Given the description of an element on the screen output the (x, y) to click on. 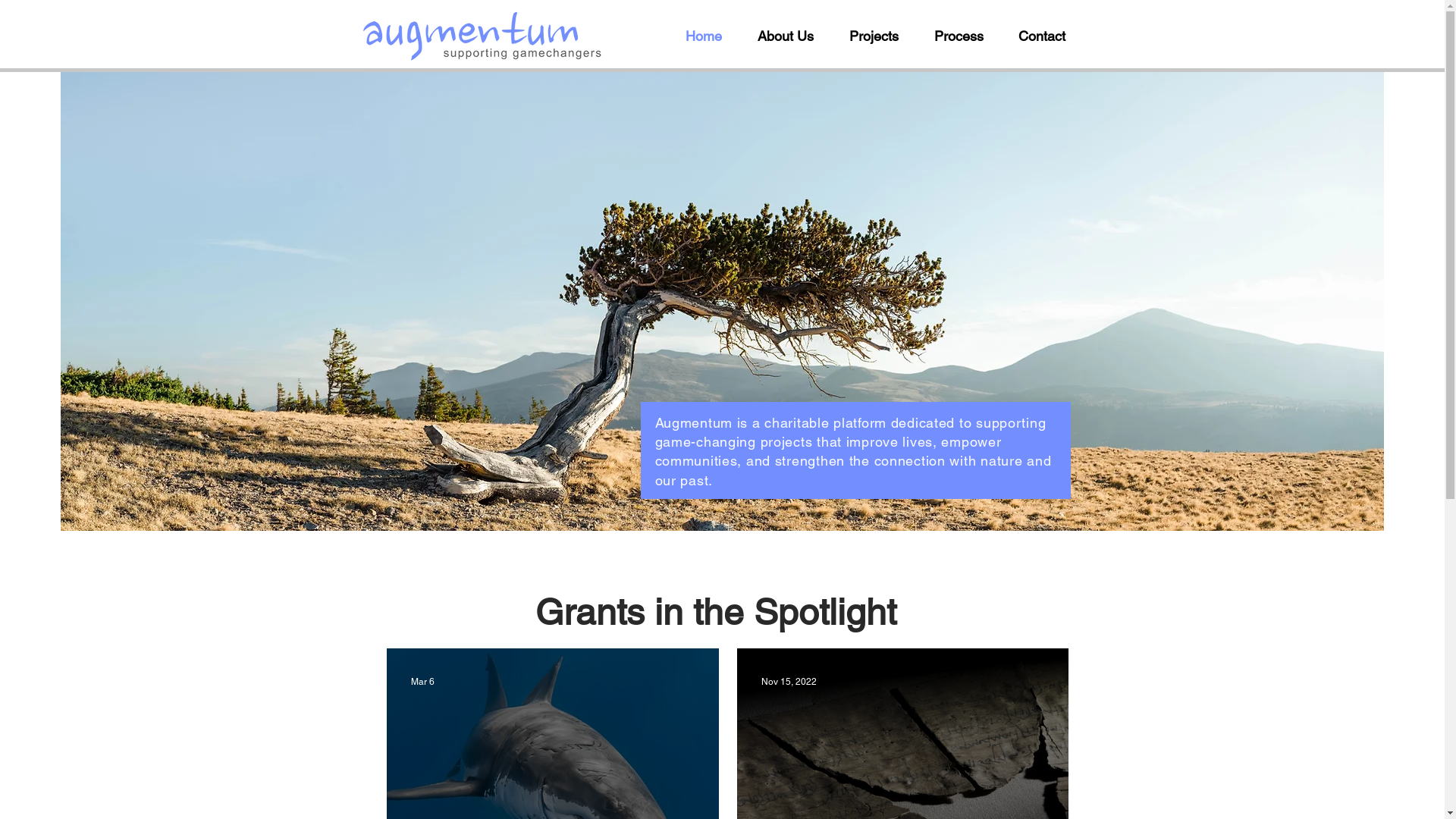
About Us Element type: text (791, 35)
Home Element type: text (709, 35)
Contact Element type: text (1047, 35)
Process Element type: text (964, 35)
Projects Element type: text (879, 35)
